Given the description of an element on the screen output the (x, y) to click on. 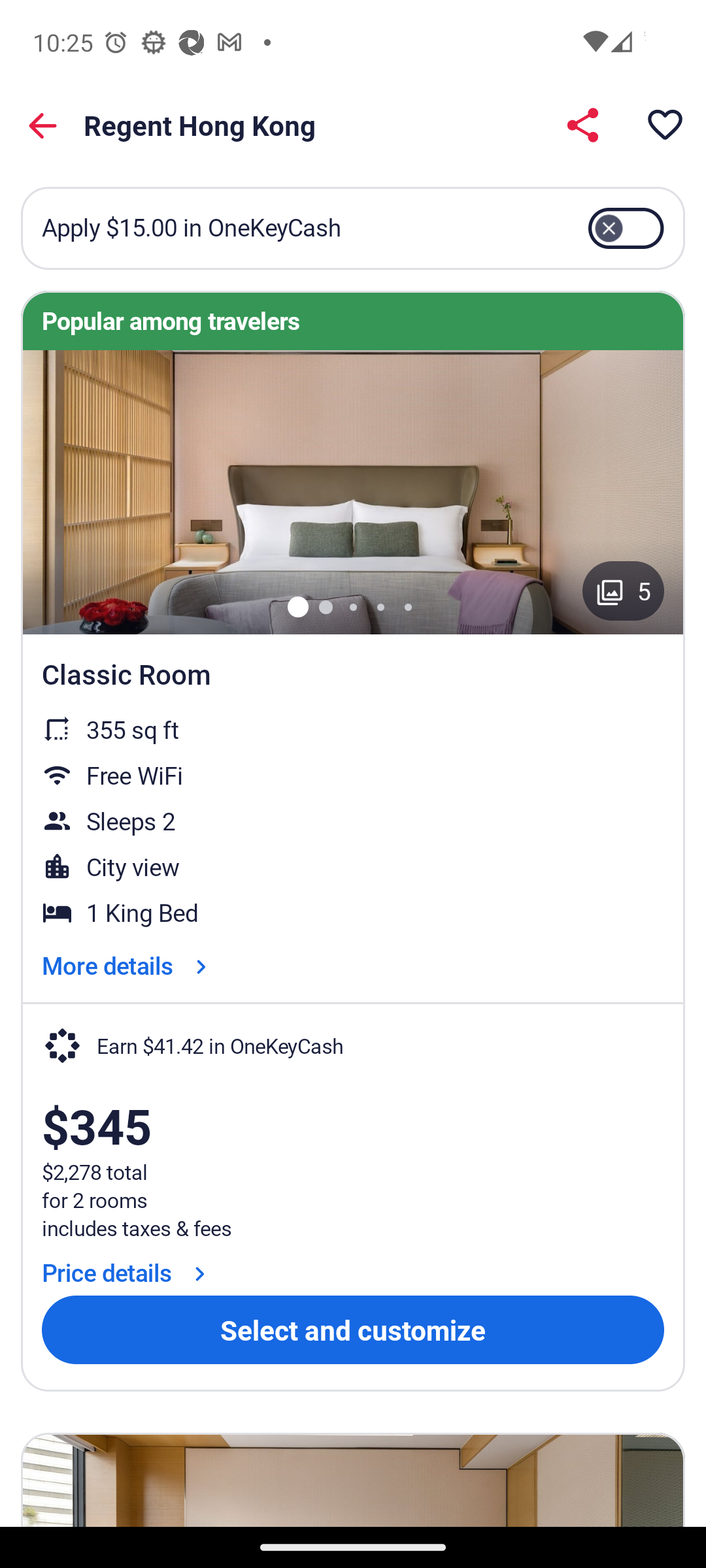
Save property to a trip (664, 124)
Back (43, 125)
Share Regent Hong Kong (581, 124)
Gallery button with 5 images (623, 590)
Select and customize (352, 1330)
